Given the description of an element on the screen output the (x, y) to click on. 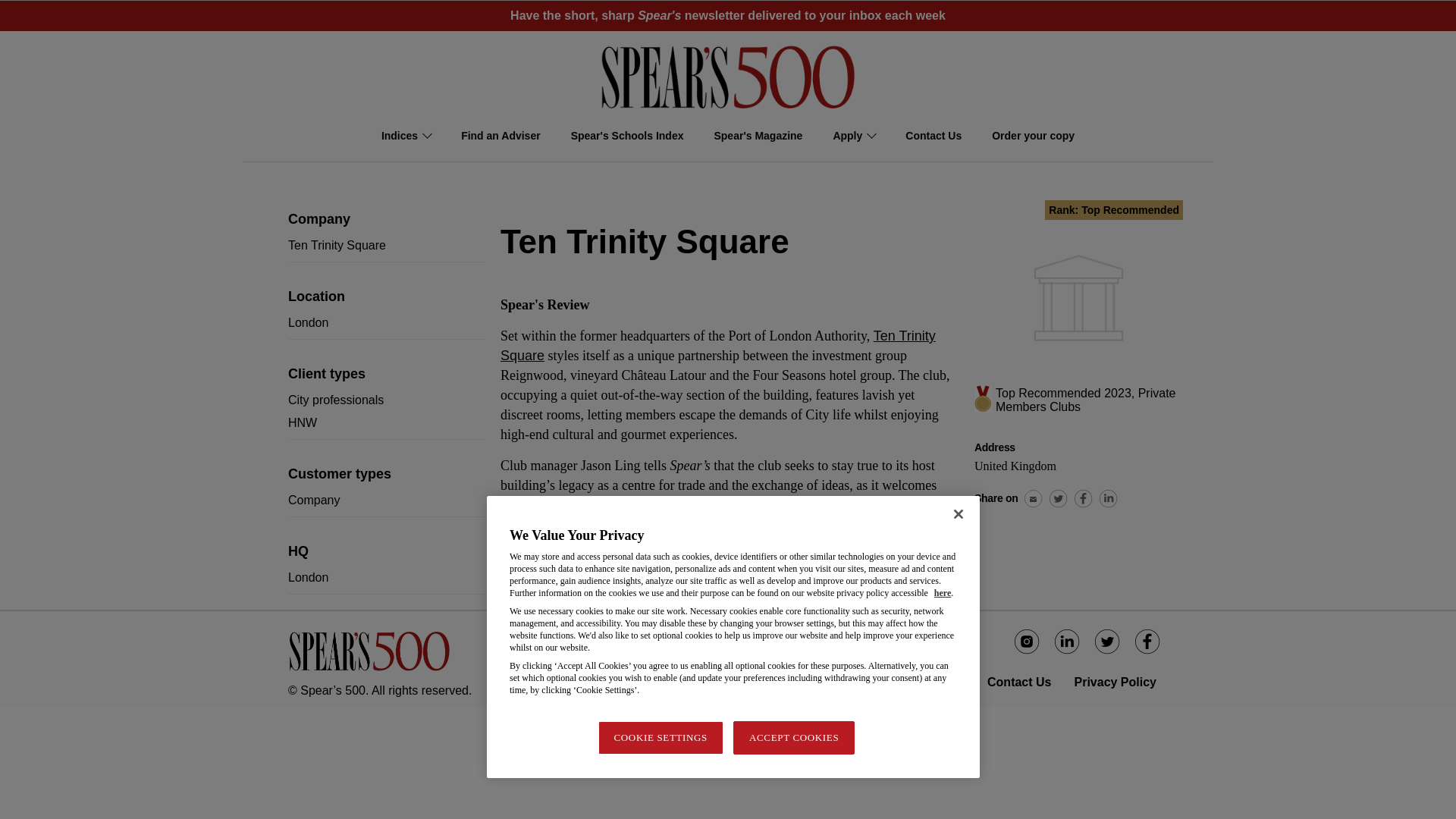
Indices (405, 146)
